Given the description of an element on the screen output the (x, y) to click on. 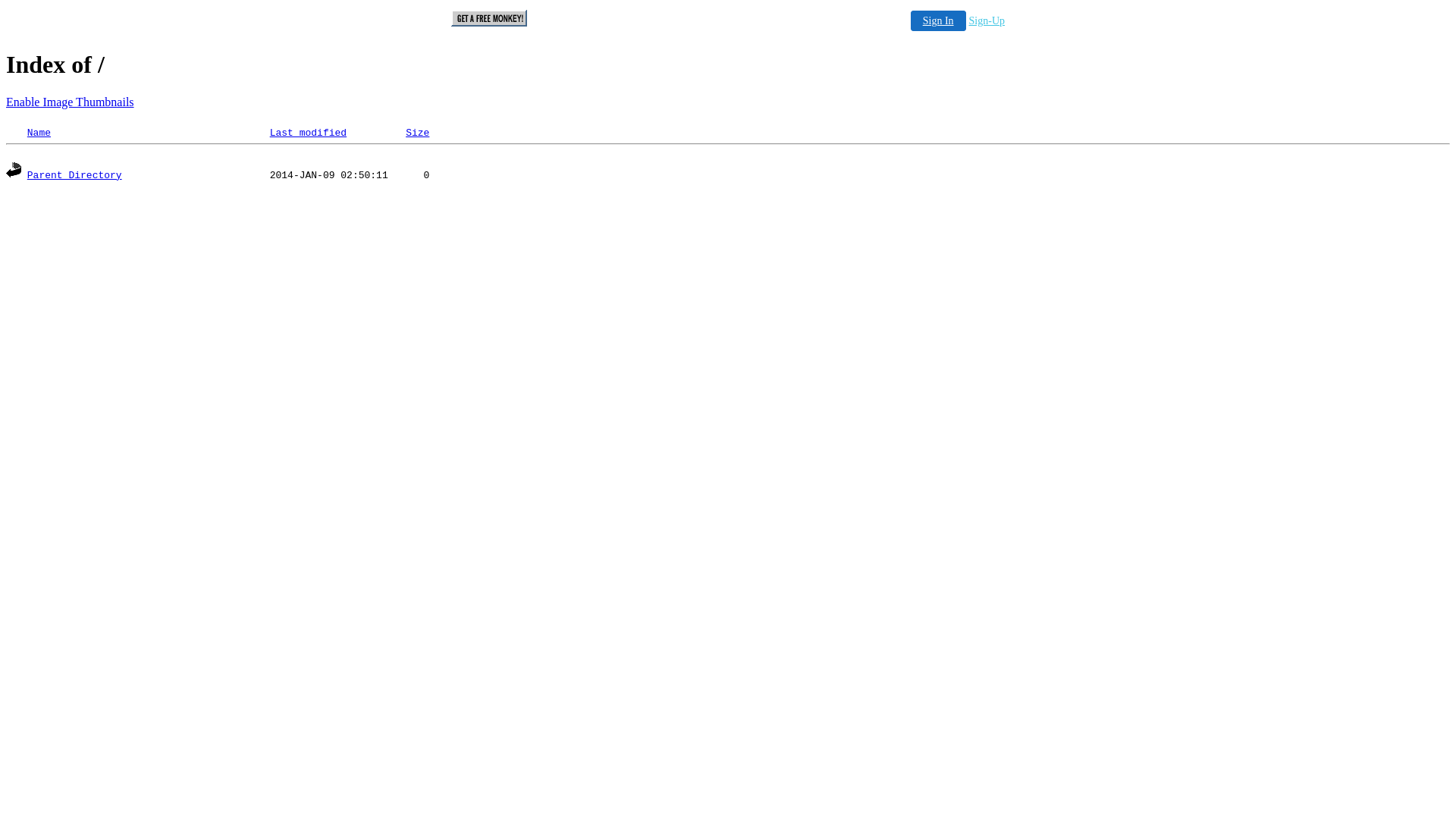
Sign-Up Element type: text (986, 20)
Name Element type: text (38, 132)
Last modified Element type: text (307, 132)
Enable Image Thumbnails Element type: text (70, 101)
Parent Directory Element type: text (74, 175)
Size Element type: text (417, 132)
Sign In Element type: text (938, 20)
